Given the description of an element on the screen output the (x, y) to click on. 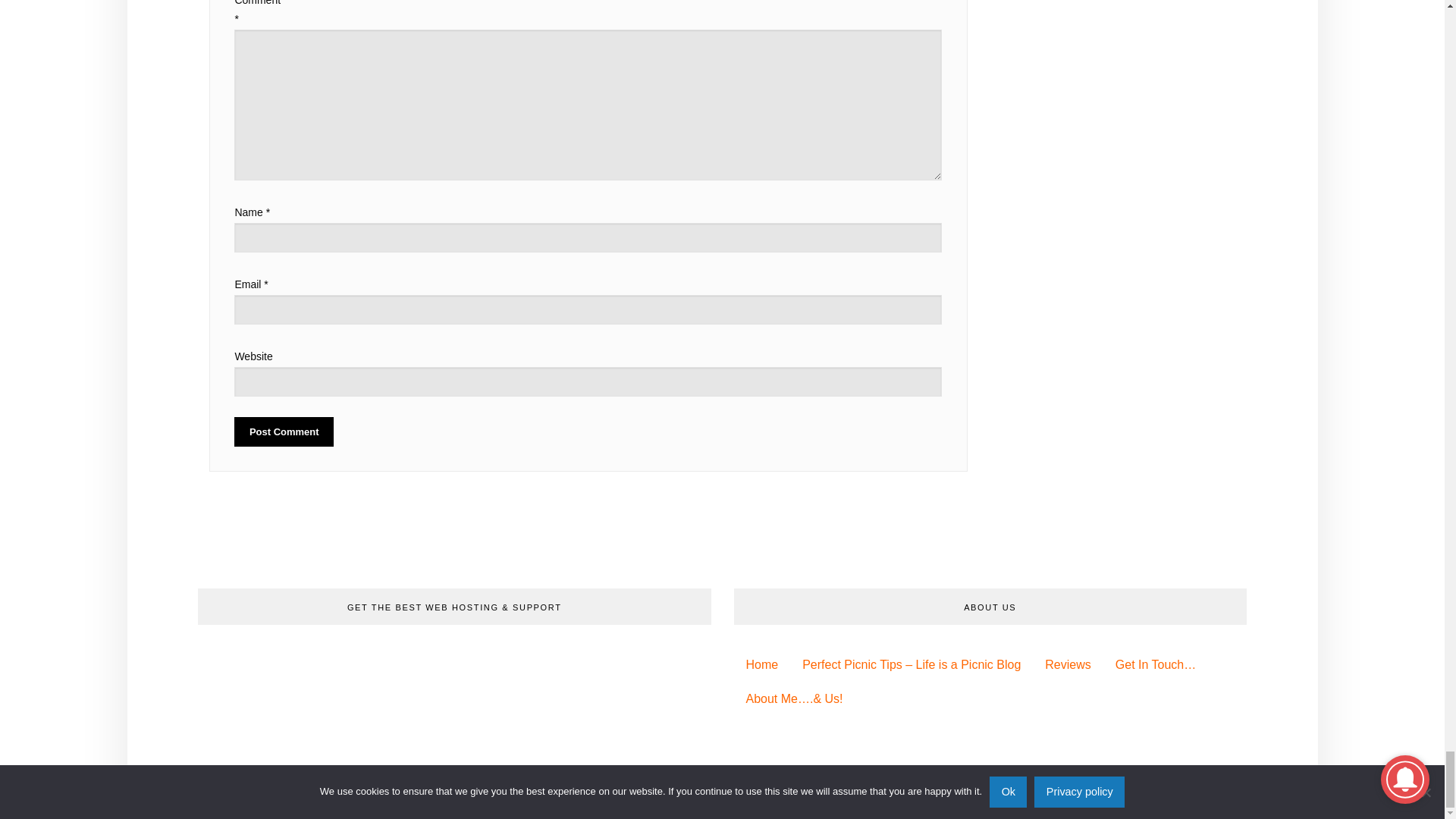
Post Comment (283, 431)
